Given the description of an element on the screen output the (x, y) to click on. 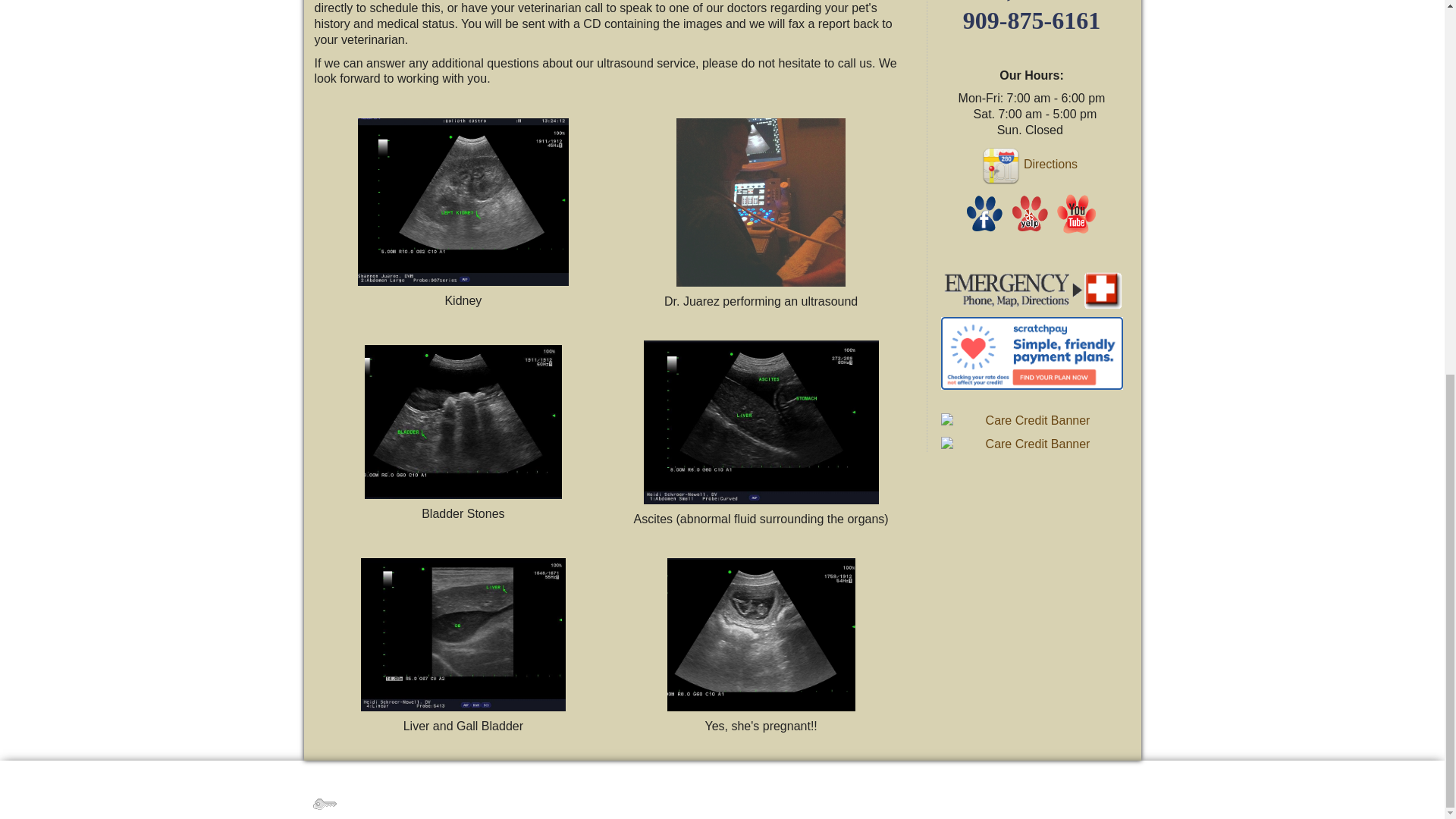
ultrasound (463, 634)
ultrasound (761, 634)
ultrasound (463, 201)
ultrasound (761, 201)
ultrasound (761, 421)
ultrasound (463, 421)
